Given the description of an element on the screen output the (x, y) to click on. 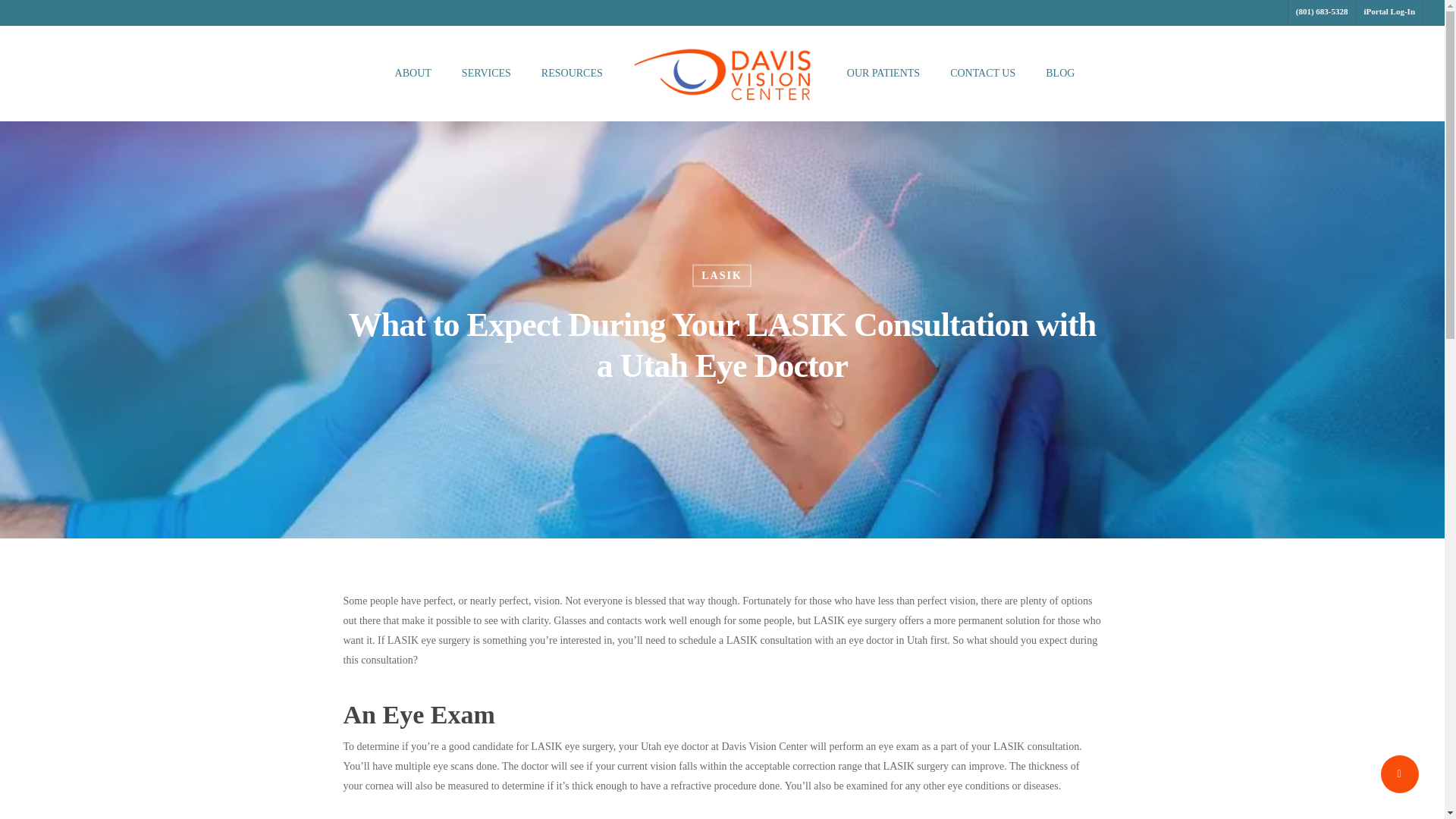
SERVICES (486, 73)
CONTACT US (982, 73)
LASIK (722, 274)
RESOURCES (571, 73)
iPortal Log-In (1388, 11)
BLOG (1059, 73)
ABOUT (412, 73)
OUR PATIENTS (883, 73)
